Given the description of an element on the screen output the (x, y) to click on. 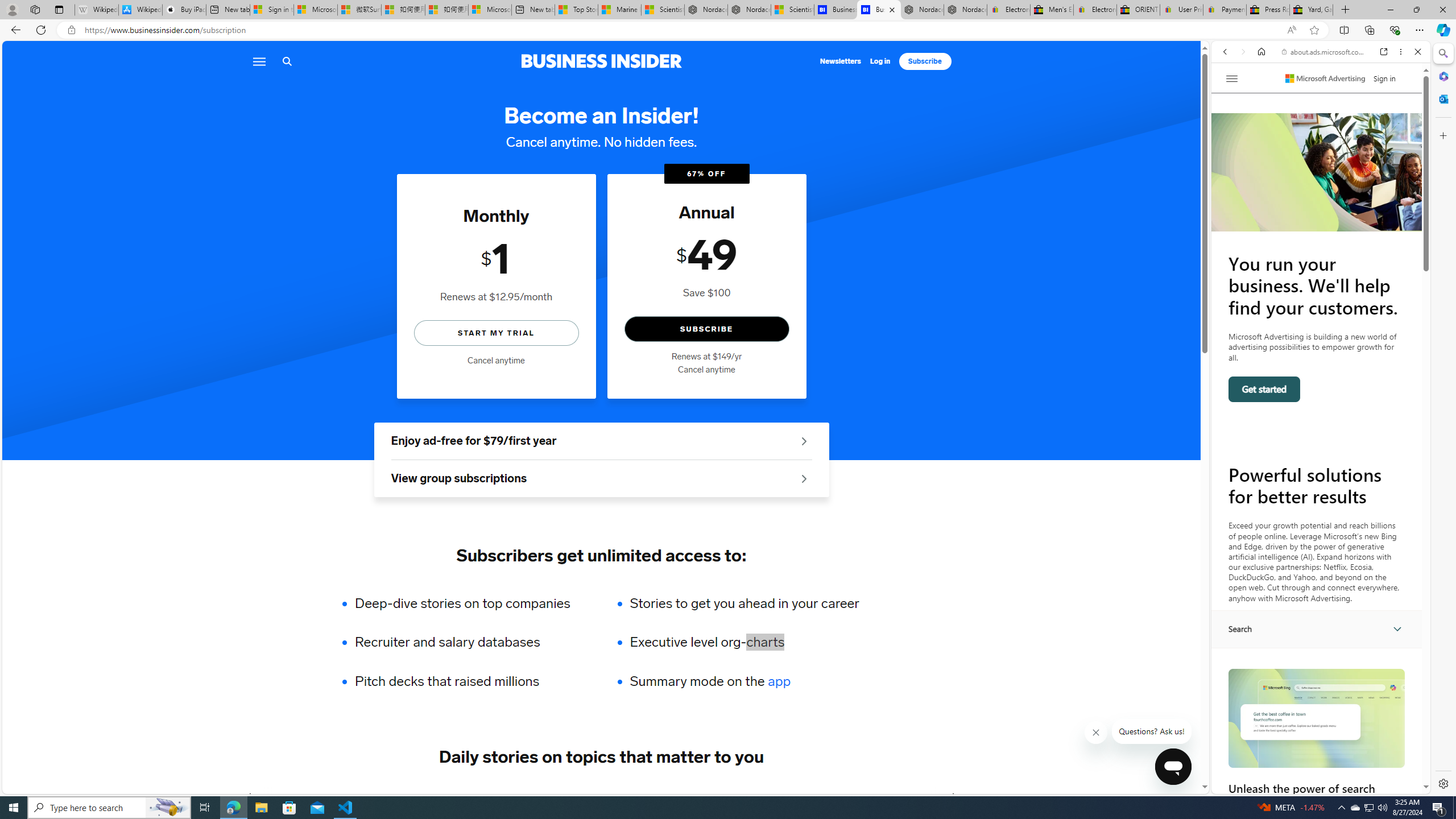
Recruiter and salary databases (470, 642)
PERSONAL FINANCE (577, 796)
ADVERTISING (349, 796)
View group subscriptions (601, 478)
Class: sc-1uf0igr-1 fjHZYk (1096, 732)
